Given the description of an element on the screen output the (x, y) to click on. 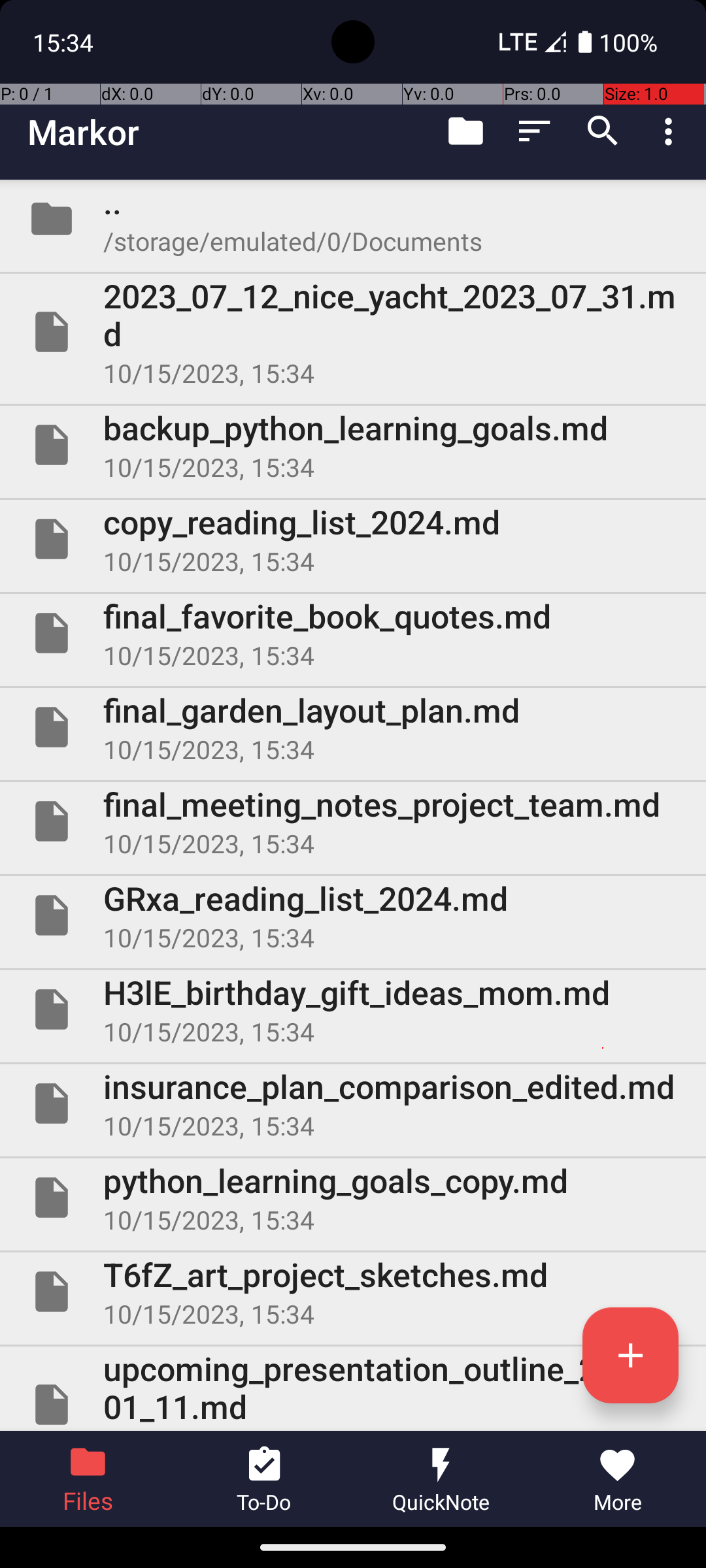
File 2023_07_12_nice_yacht_2023_07_31.md  Element type: android.widget.LinearLayout (353, 331)
File backup_python_learning_goals.md  Element type: android.widget.LinearLayout (353, 444)
File copy_reading_list_2024.md  Element type: android.widget.LinearLayout (353, 538)
File final_favorite_book_quotes.md  Element type: android.widget.LinearLayout (353, 632)
File final_garden_layout_plan.md  Element type: android.widget.LinearLayout (353, 726)
File final_meeting_notes_project_team.md  Element type: android.widget.LinearLayout (353, 821)
File GRxa_reading_list_2024.md  Element type: android.widget.LinearLayout (353, 915)
File H3lE_birthday_gift_ideas_mom.md  Element type: android.widget.LinearLayout (353, 1009)
File insurance_plan_comparison_edited.md  Element type: android.widget.LinearLayout (353, 1103)
File python_learning_goals_copy.md  Element type: android.widget.LinearLayout (353, 1197)
File T6fZ_art_project_sketches.md  Element type: android.widget.LinearLayout (353, 1291)
File upcoming_presentation_outline_2023_01_11.md  Element type: android.widget.LinearLayout (353, 1388)
